Given the description of an element on the screen output the (x, y) to click on. 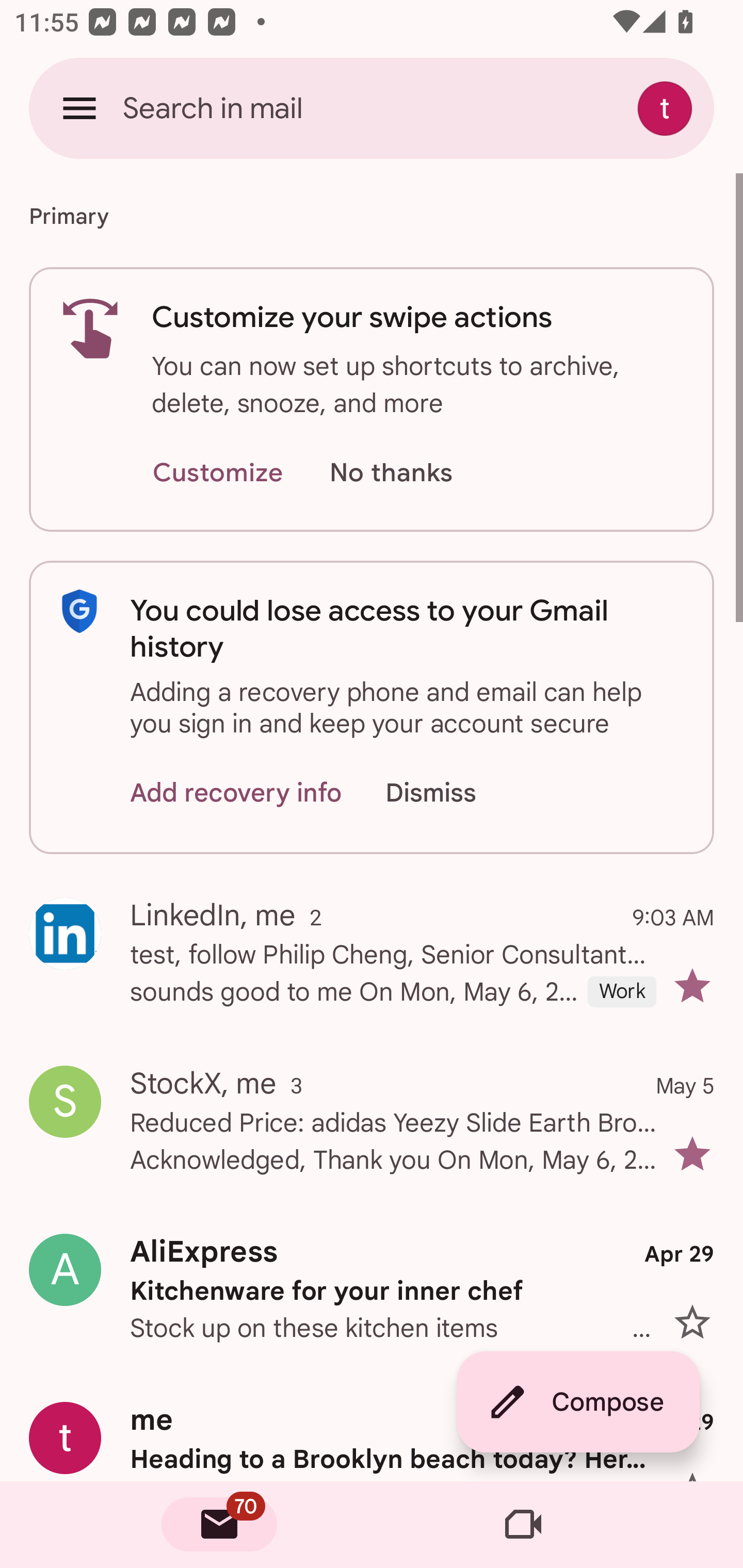
Open navigation drawer (79, 108)
Customize (217, 473)
No thanks (390, 473)
Add recovery info (235, 792)
Dismiss (449, 792)
Compose (577, 1401)
Meet (523, 1524)
